Given the description of an element on the screen output the (x, y) to click on. 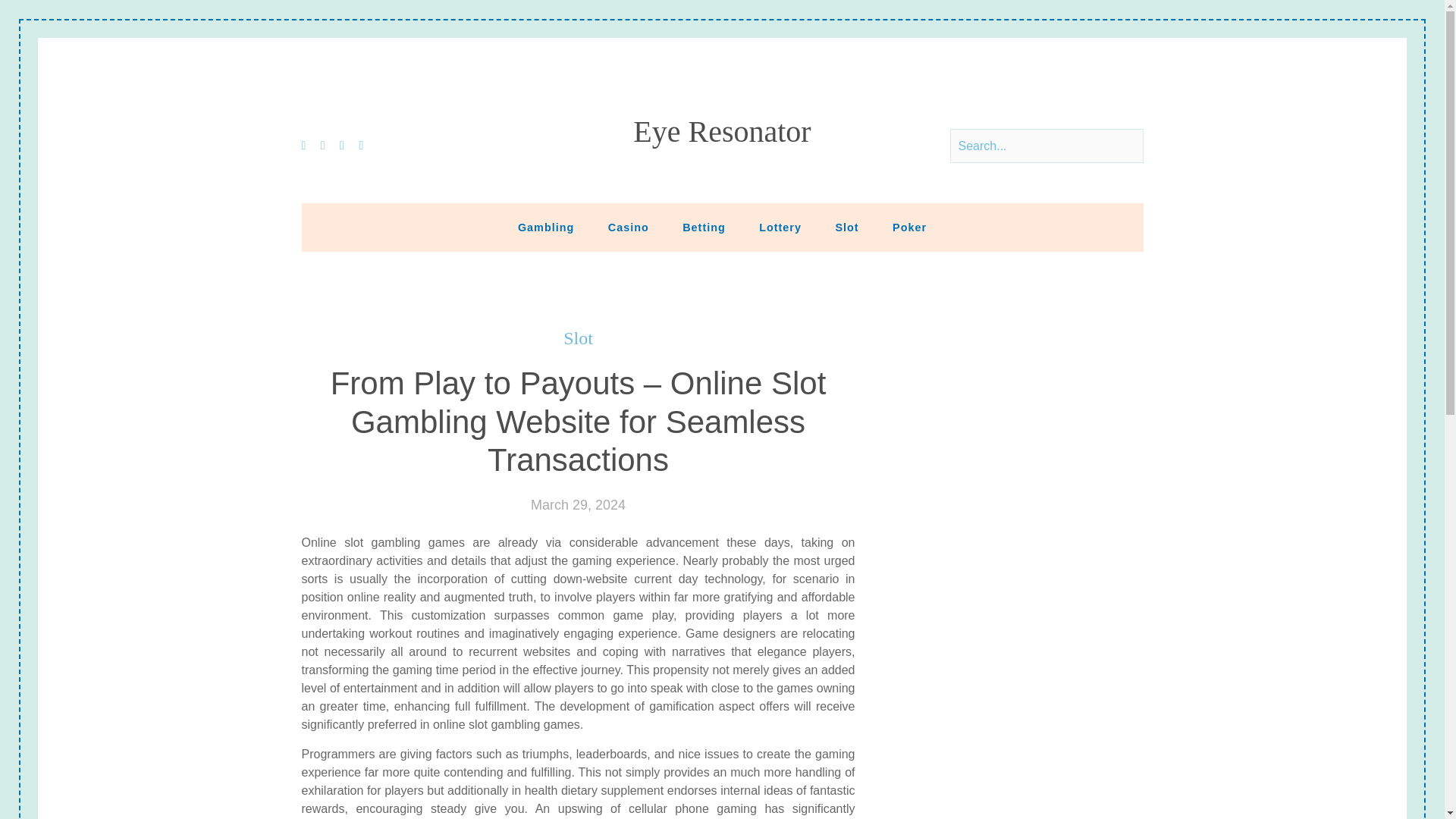
Lottery (780, 227)
March 29, 2024 (578, 505)
Slot (846, 227)
Poker (909, 227)
Eye Resonator (721, 131)
Betting (703, 227)
Slot (577, 338)
Casino (627, 227)
Gambling (545, 227)
